Given the description of an element on the screen output the (x, y) to click on. 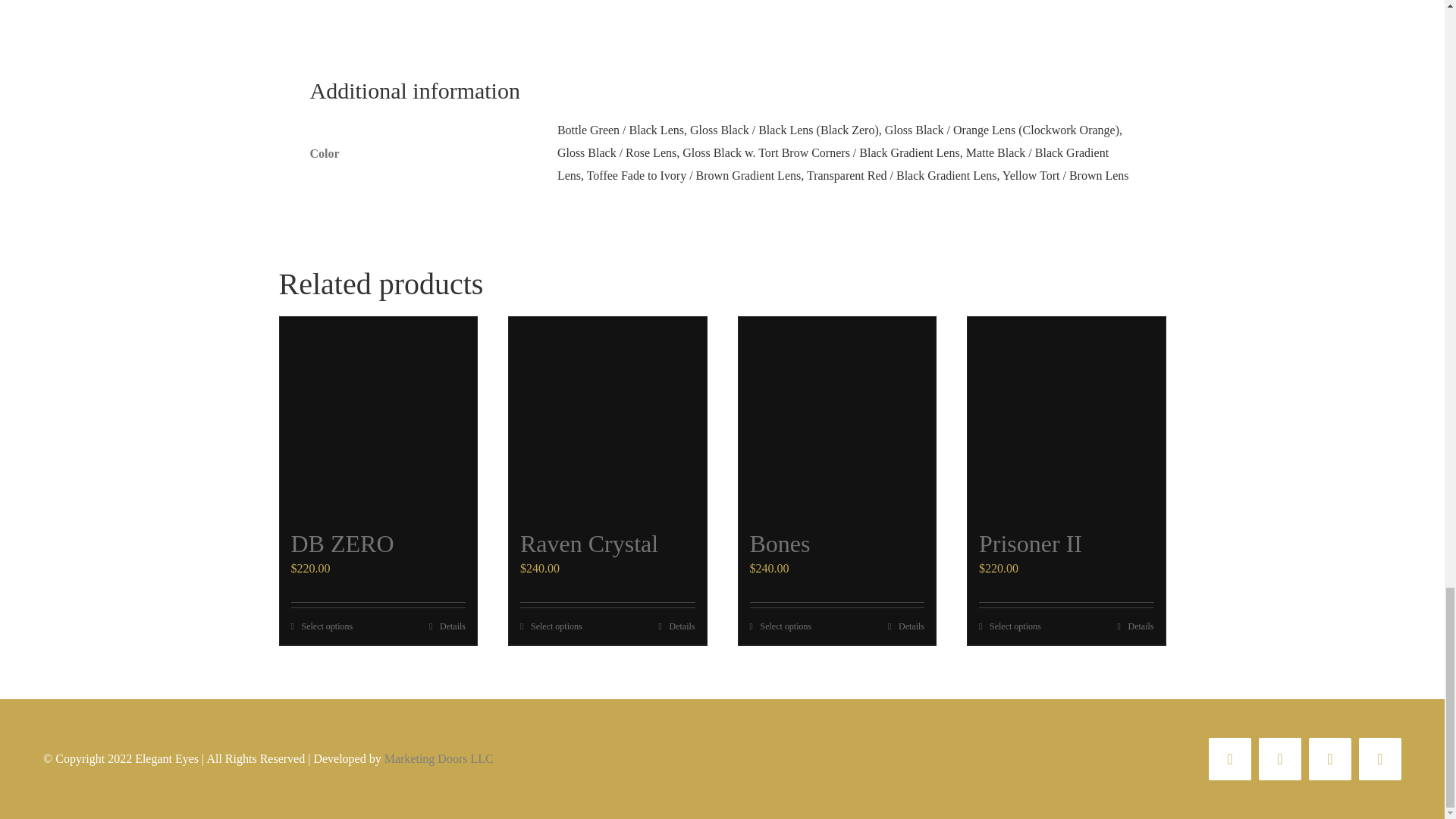
Details (906, 626)
Select options (322, 626)
Select options (550, 626)
Raven Crystal (588, 543)
Prisoner II (1029, 543)
Bones (779, 543)
Details (676, 626)
Select options (1009, 626)
Details (1136, 626)
Details (447, 626)
DB ZERO (342, 543)
Select options (779, 626)
Marketing Doors LLC (438, 758)
